Given the description of an element on the screen output the (x, y) to click on. 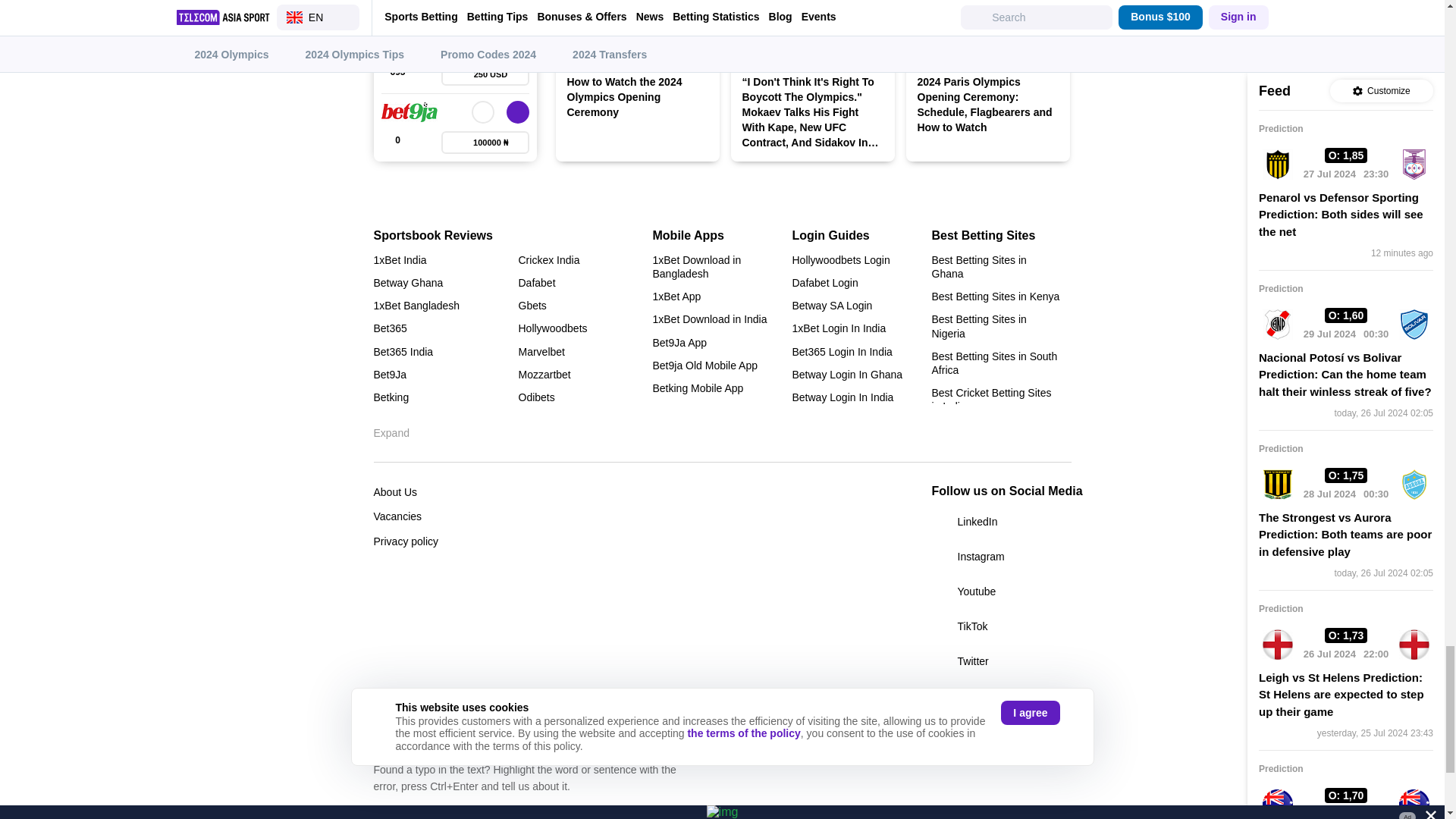
TikTok (1000, 626)
Instagram (1000, 556)
LinkedIn (1000, 521)
Youtube (1000, 591)
